Given the description of an element on the screen output the (x, y) to click on. 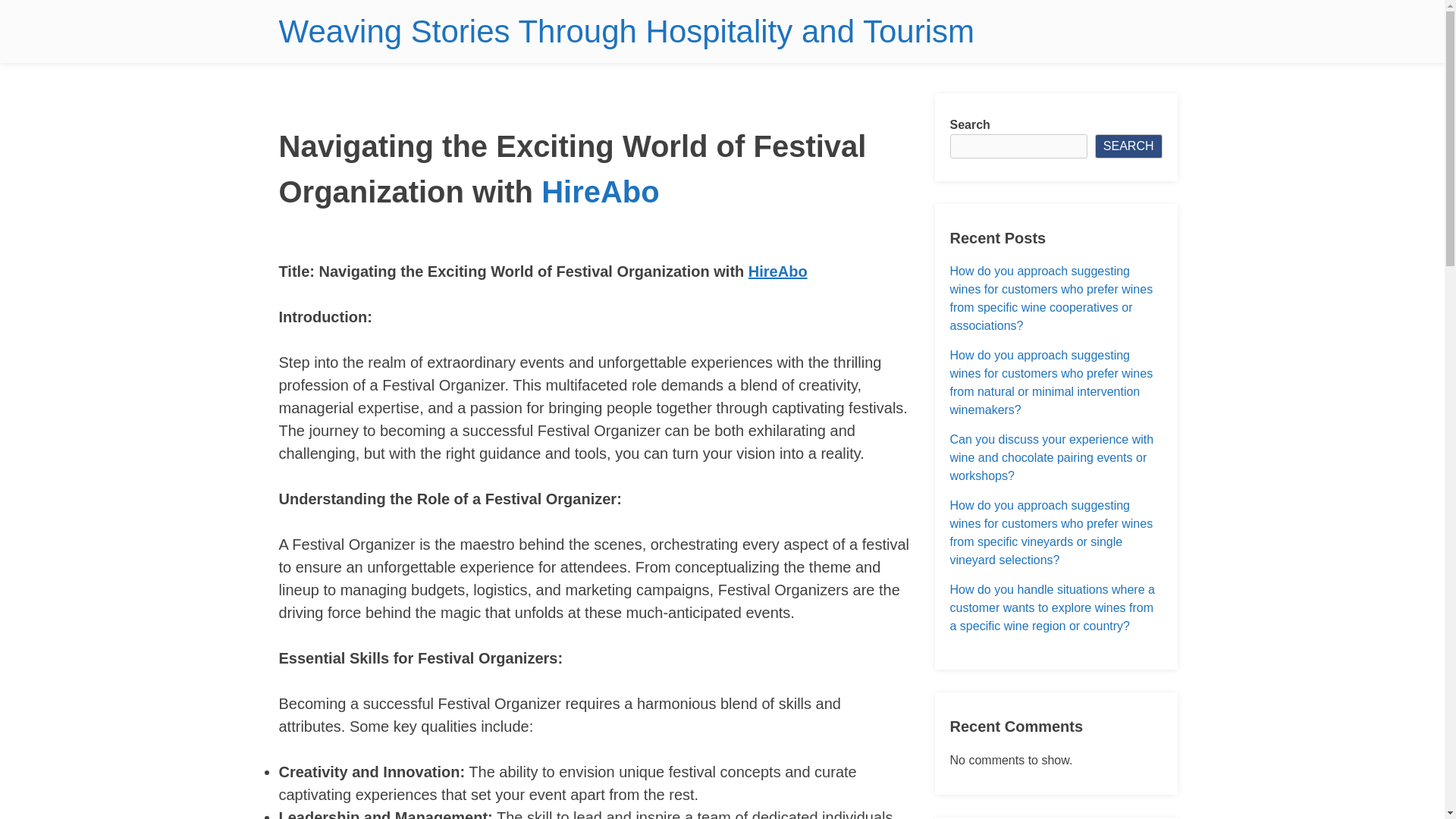
HireAbo (778, 271)
Weaving Stories Through Hospitality and Tourism (626, 31)
SEARCH (1127, 146)
HireAbo (600, 191)
